Given the description of an element on the screen output the (x, y) to click on. 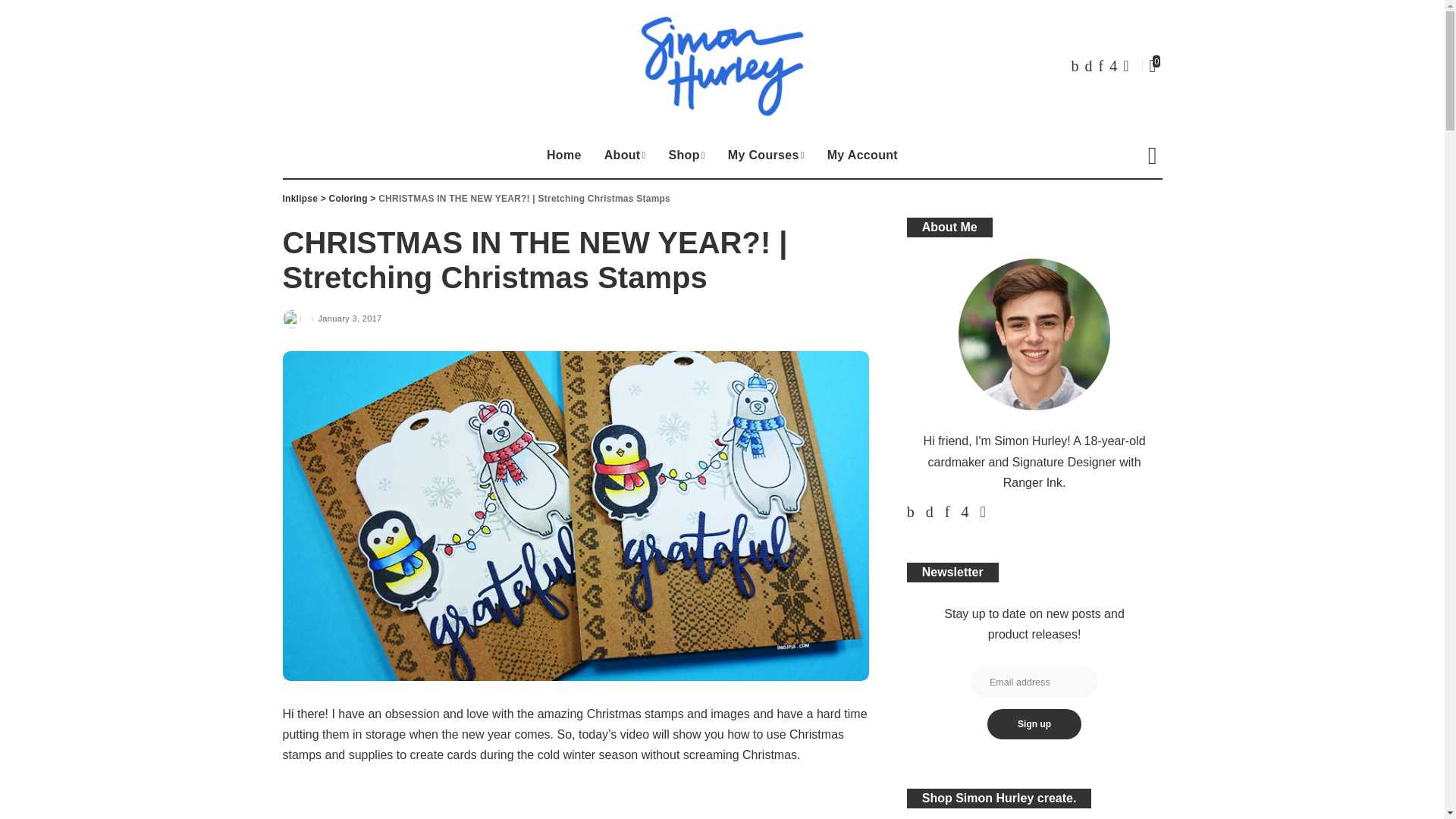
Home (563, 155)
Shop (687, 155)
Sign up (1034, 724)
About (625, 155)
Inklipse (722, 66)
My Account (861, 155)
My Courses (765, 155)
